Given the description of an element on the screen output the (x, y) to click on. 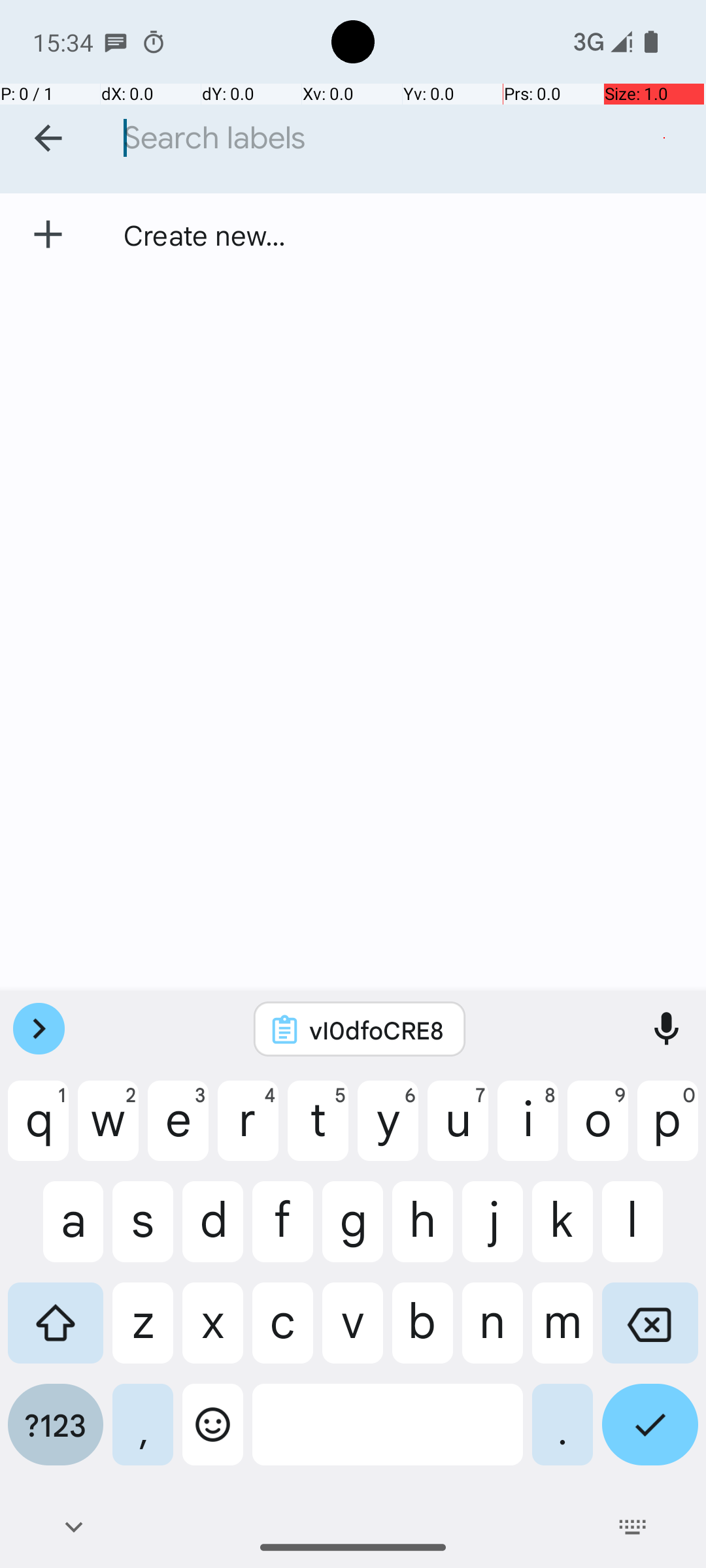
Search labels Element type: android.widget.EditText (407, 138)
Create new… Element type: android.widget.TextView (204, 234)
vI0dfoCRE8 Element type: android.widget.TextView (376, 1029)
SMS Messenger notification: Sophie Gonzalez Element type: android.widget.ImageView (115, 41)
